Given the description of an element on the screen output the (x, y) to click on. 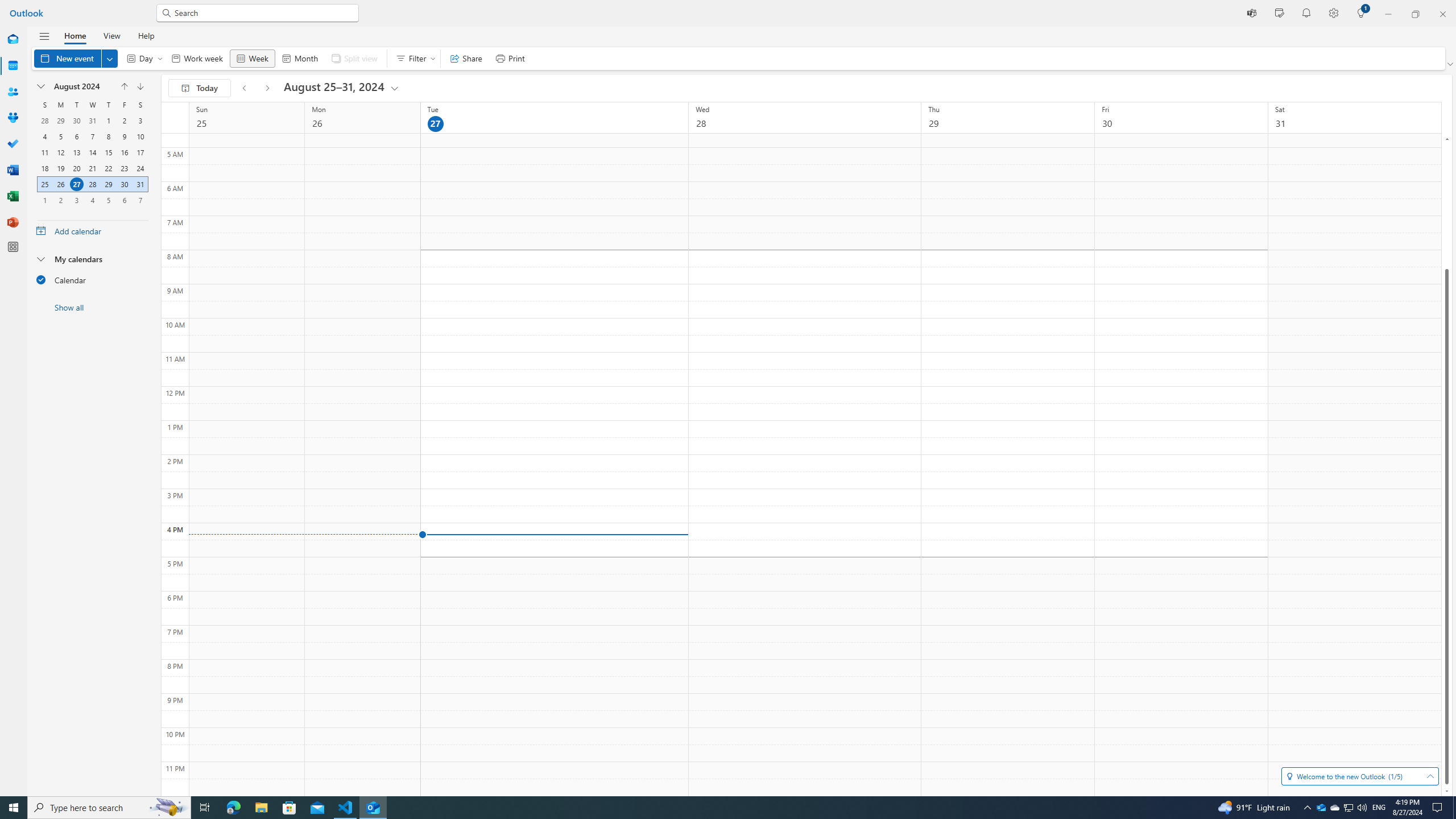
New event (75, 58)
25, August, 2024 (44, 183)
24, August, 2024 (140, 168)
Go to next month September (140, 86)
4, August, 2024 (44, 136)
30, August, 2024 (124, 183)
22, August, 2024 (108, 168)
6, August, 2024 (76, 136)
14, August, 2024 (92, 152)
5, September, 2024 (108, 200)
Tuesday (76, 104)
10, August, 2024 (140, 136)
